Given the description of an element on the screen output the (x, y) to click on. 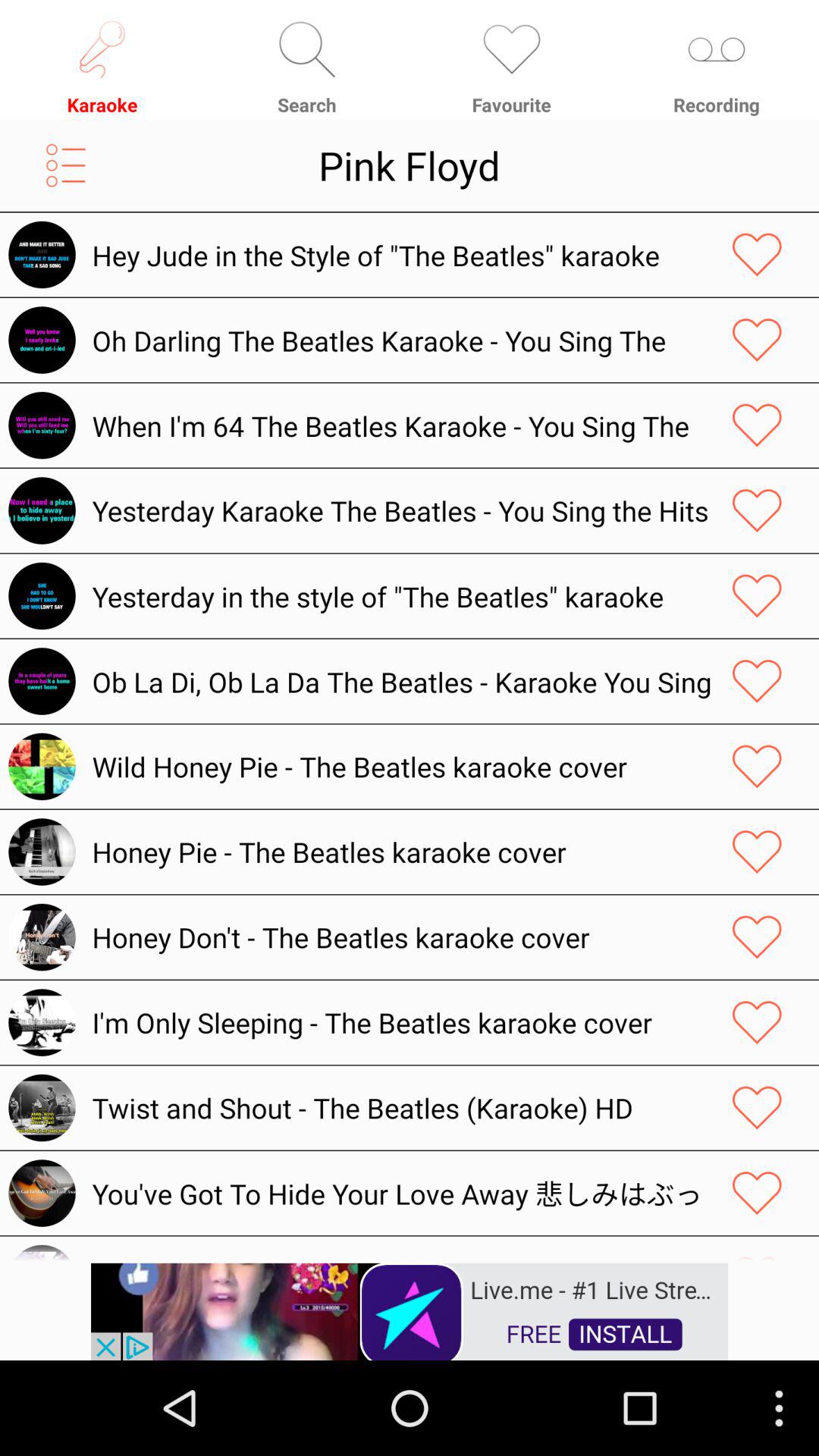
like the song (756, 425)
